Given the description of an element on the screen output the (x, y) to click on. 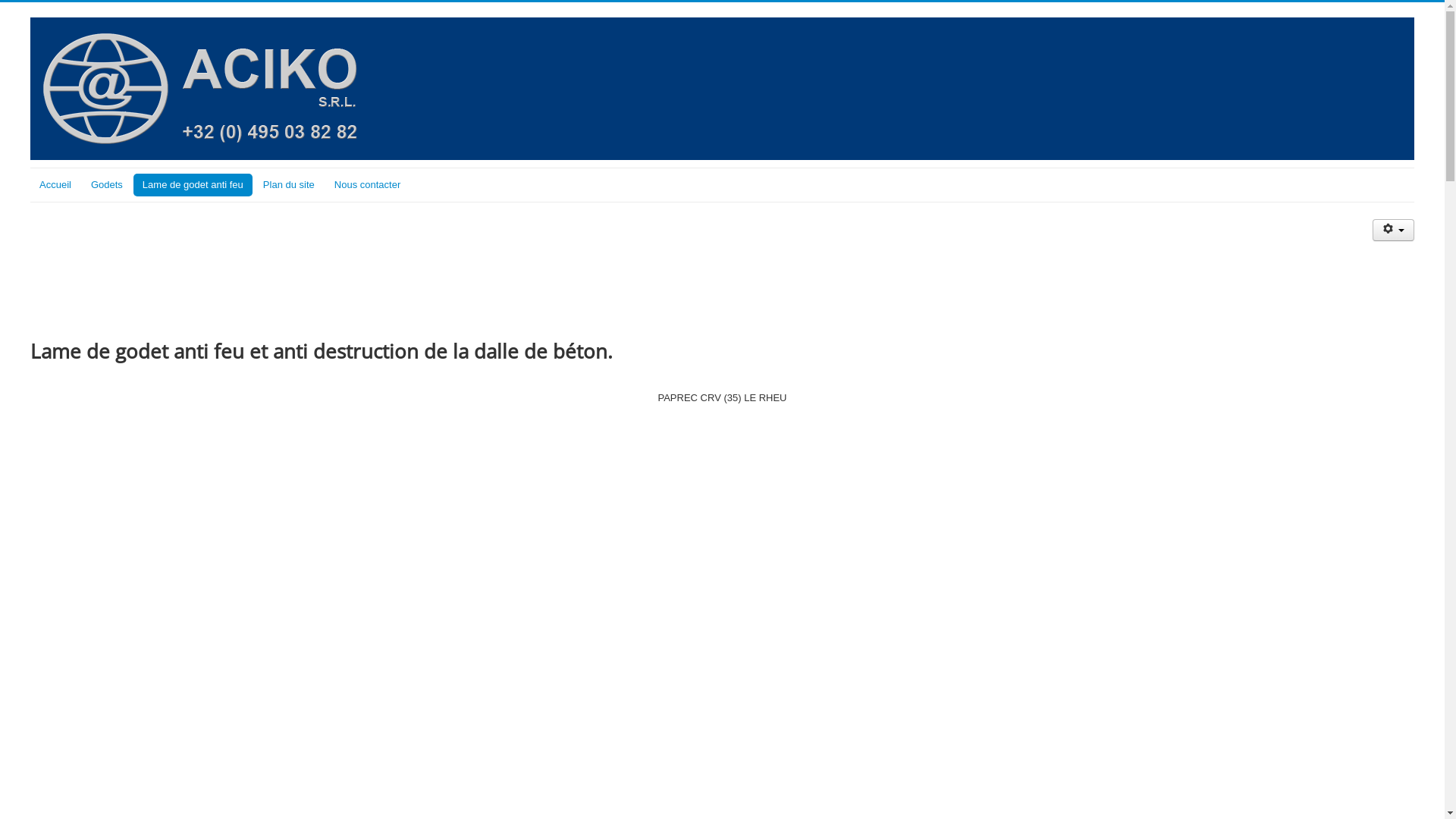
Accueil Element type: text (55, 184)
Nous contacter Element type: text (367, 184)
Godets Element type: text (106, 184)
Plan du site Element type: text (288, 184)
Lame de godet anti feu Element type: text (192, 184)
